Given the description of an element on the screen output the (x, y) to click on. 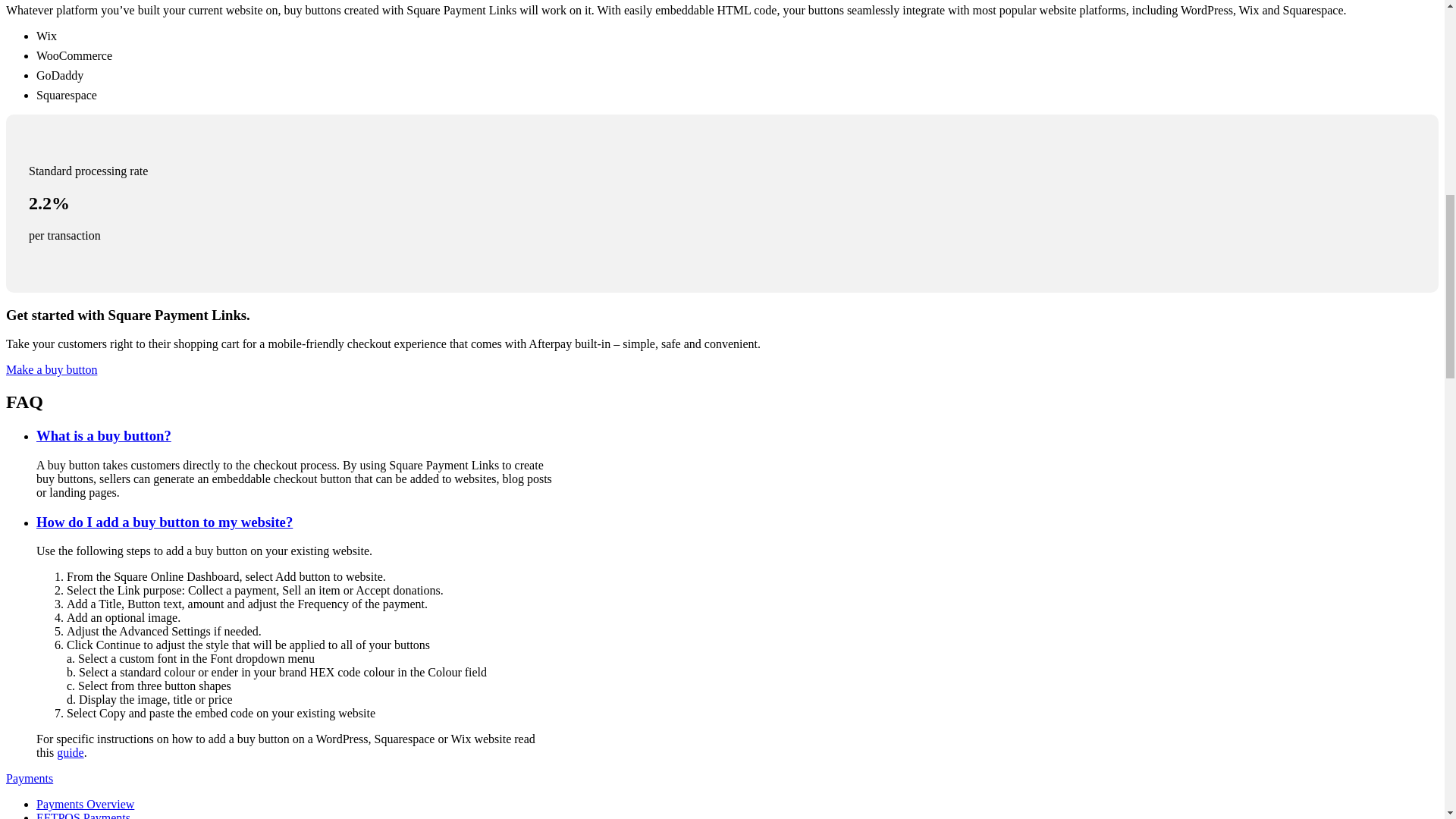
Payments (28, 778)
Payments Overview (84, 803)
EFTPOS Payments (83, 815)
Make a buy button (51, 369)
guide (70, 752)
